Given the description of an element on the screen output the (x, y) to click on. 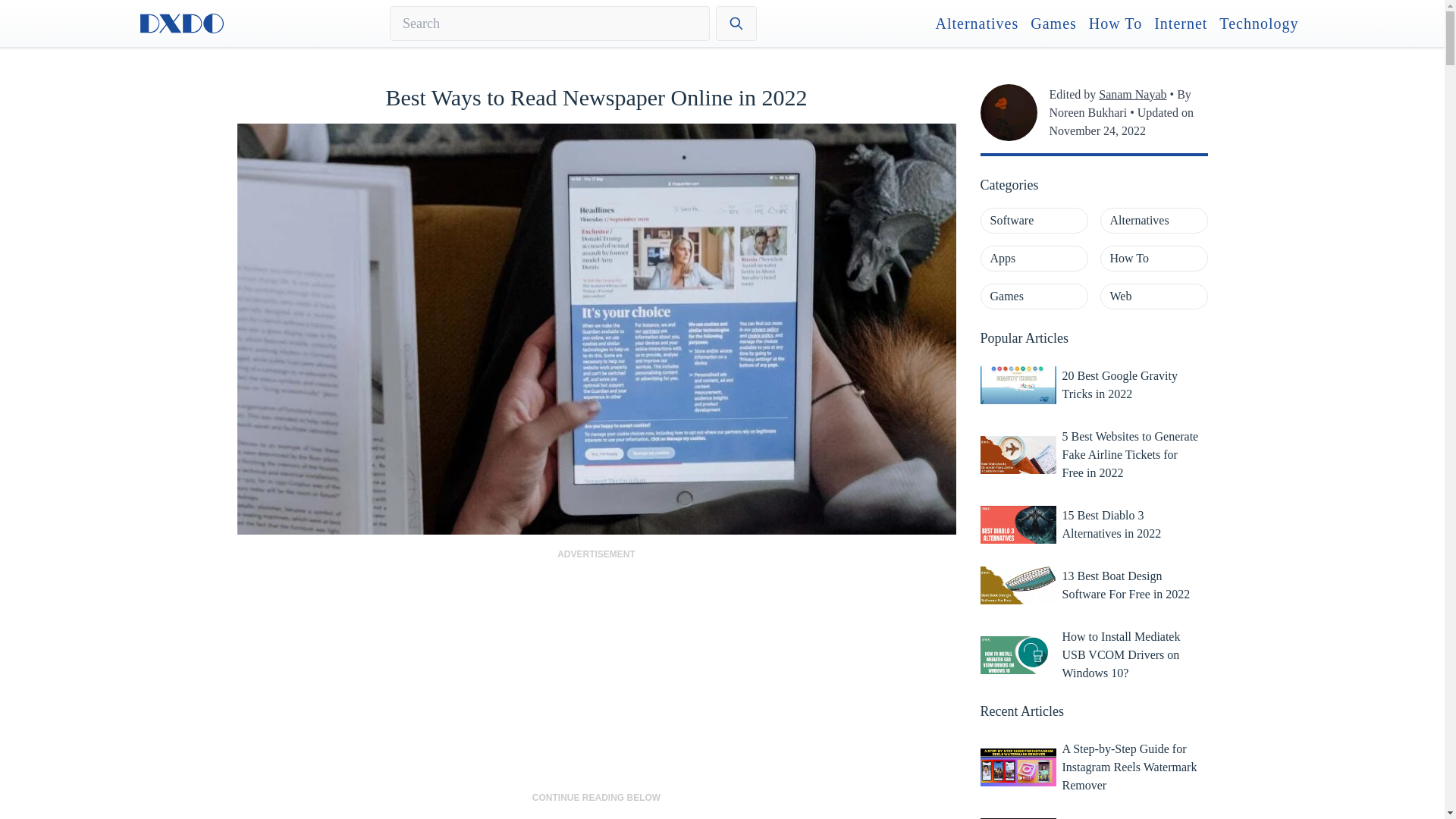
Software (1033, 220)
15 Best Diablo 3 Alternatives in 2022 (1131, 524)
Web (1153, 296)
Sanam Nayab (1132, 93)
Technology (1259, 23)
Internet (1180, 23)
13 Best Boat Design Software For Free in 2022 (1131, 585)
How To (1153, 258)
Noreen Bukhari (1087, 112)
